Given the description of an element on the screen output the (x, y) to click on. 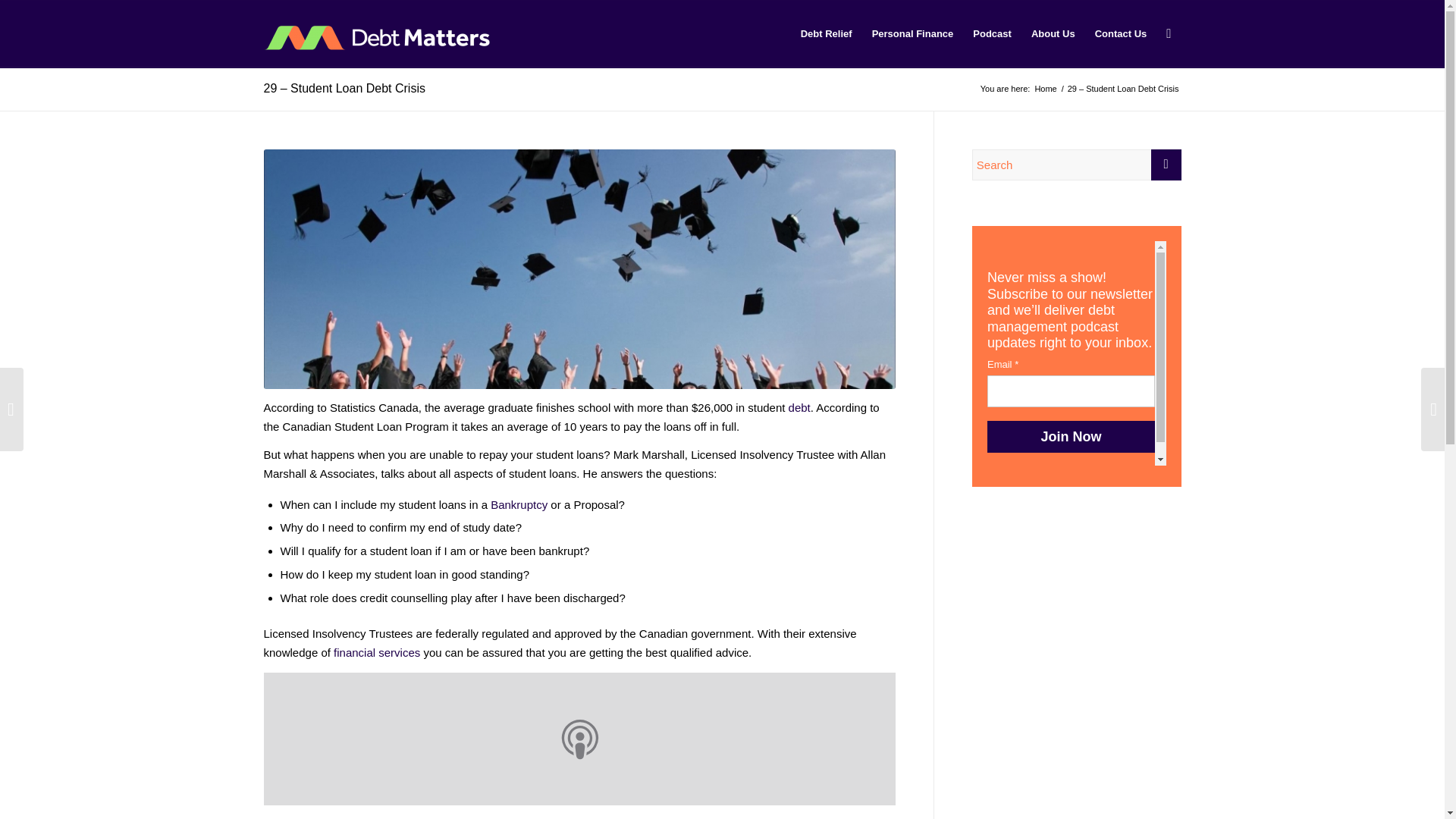
Debt Matters (1045, 89)
About Us (1053, 33)
Contact Us (1120, 33)
Personal Finance (912, 33)
Home (1045, 89)
debt (799, 407)
Debt Relief (825, 33)
Bankruptcy (518, 504)
financial services (376, 652)
